Given the description of an element on the screen output the (x, y) to click on. 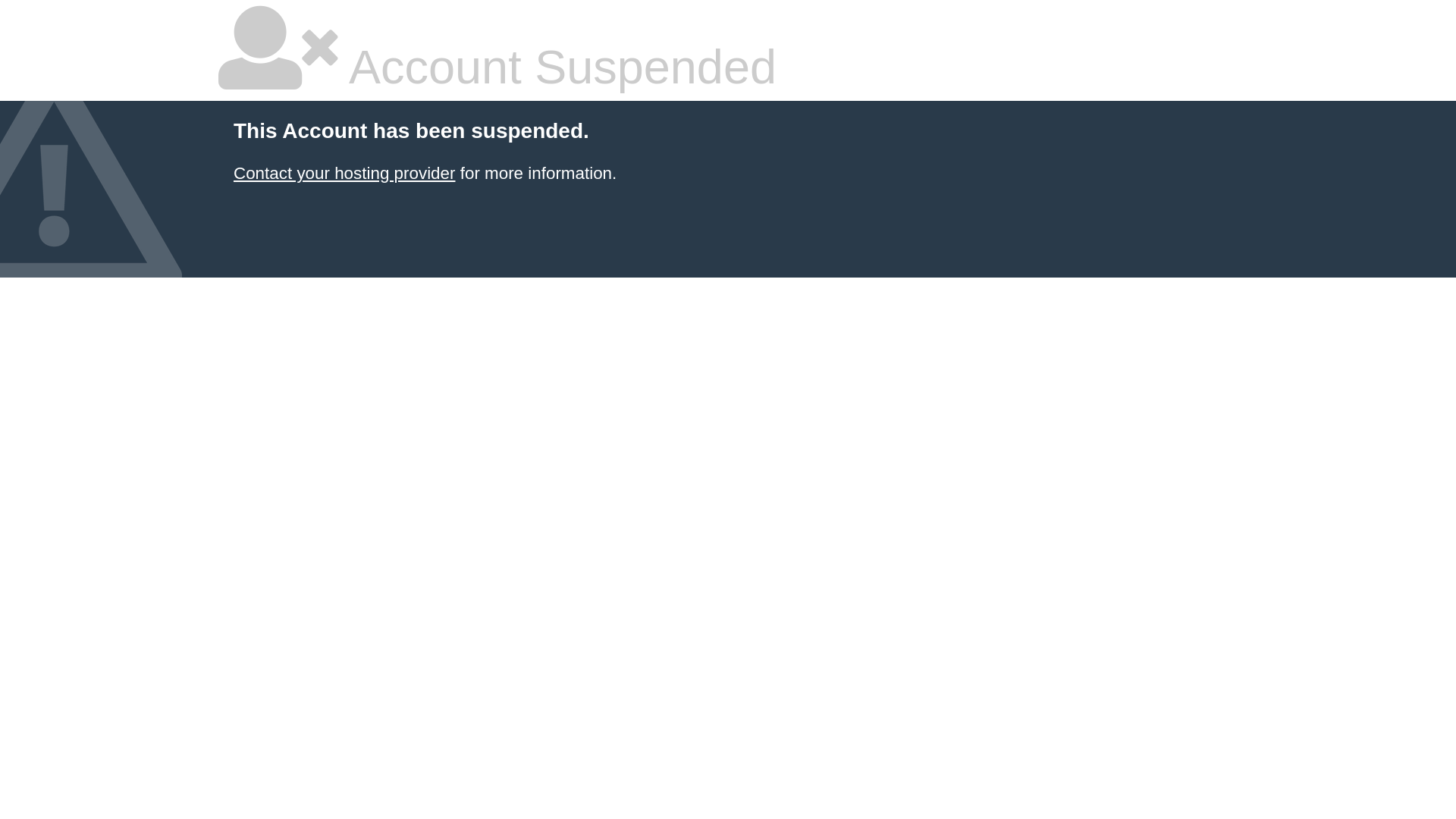
Contact your hosting provider Element type: text (344, 172)
